Given the description of an element on the screen output the (x, y) to click on. 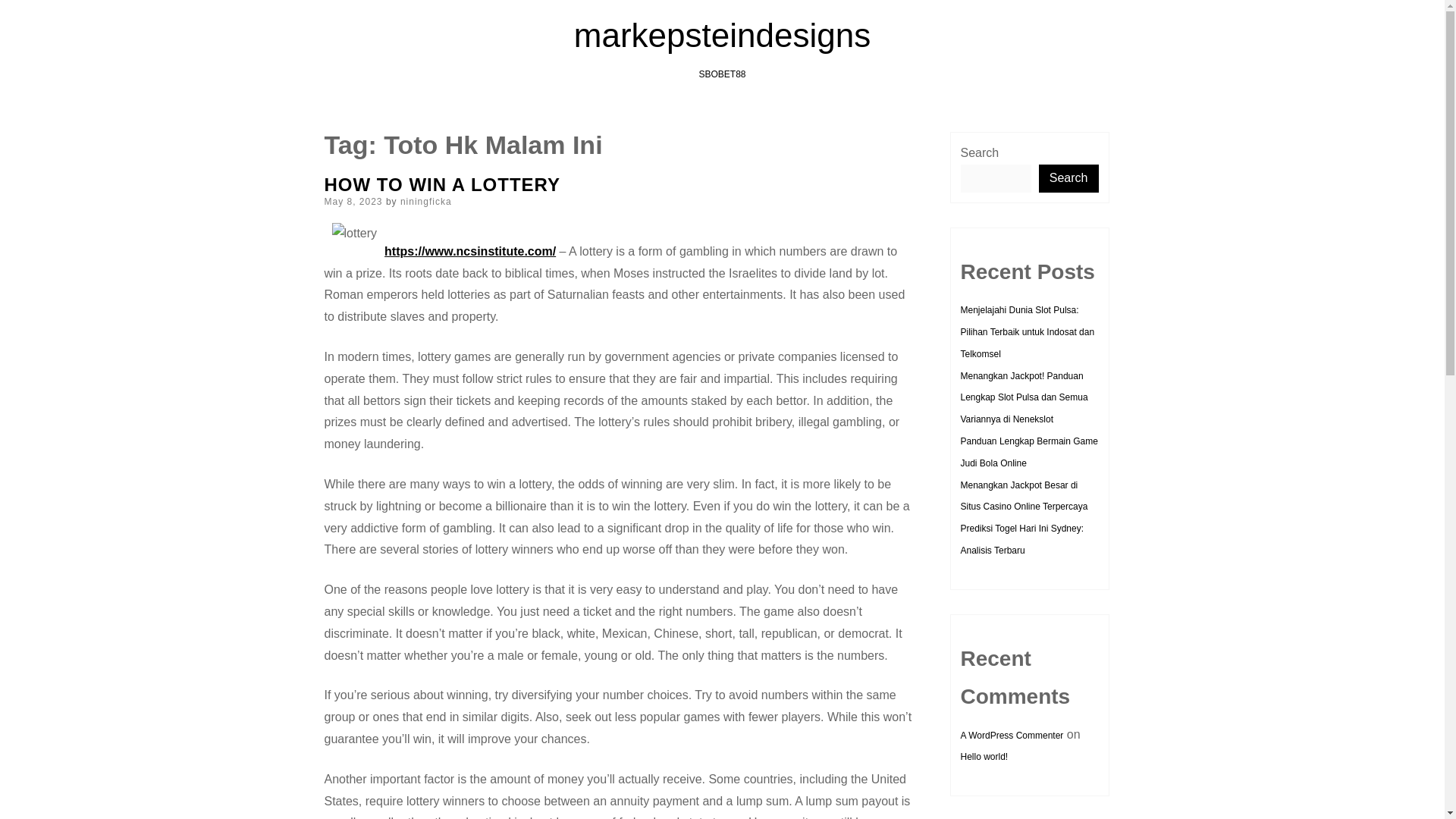
A WordPress Commenter (1010, 735)
markepsteindesigns (721, 35)
May 8, 2023 (353, 201)
HOW TO WIN A LOTTERY (442, 184)
niningficka (425, 201)
SBOBET88 (721, 73)
Panduan Lengkap Bermain Game Judi Bola Online (1028, 451)
Search (1069, 178)
Hello world! (983, 756)
Prediksi Togel Hari Ini Sydney: Analisis Terbaru (1021, 539)
Menangkan Jackpot Besar di Situs Casino Online Terpercaya (1023, 495)
